Given the description of an element on the screen output the (x, y) to click on. 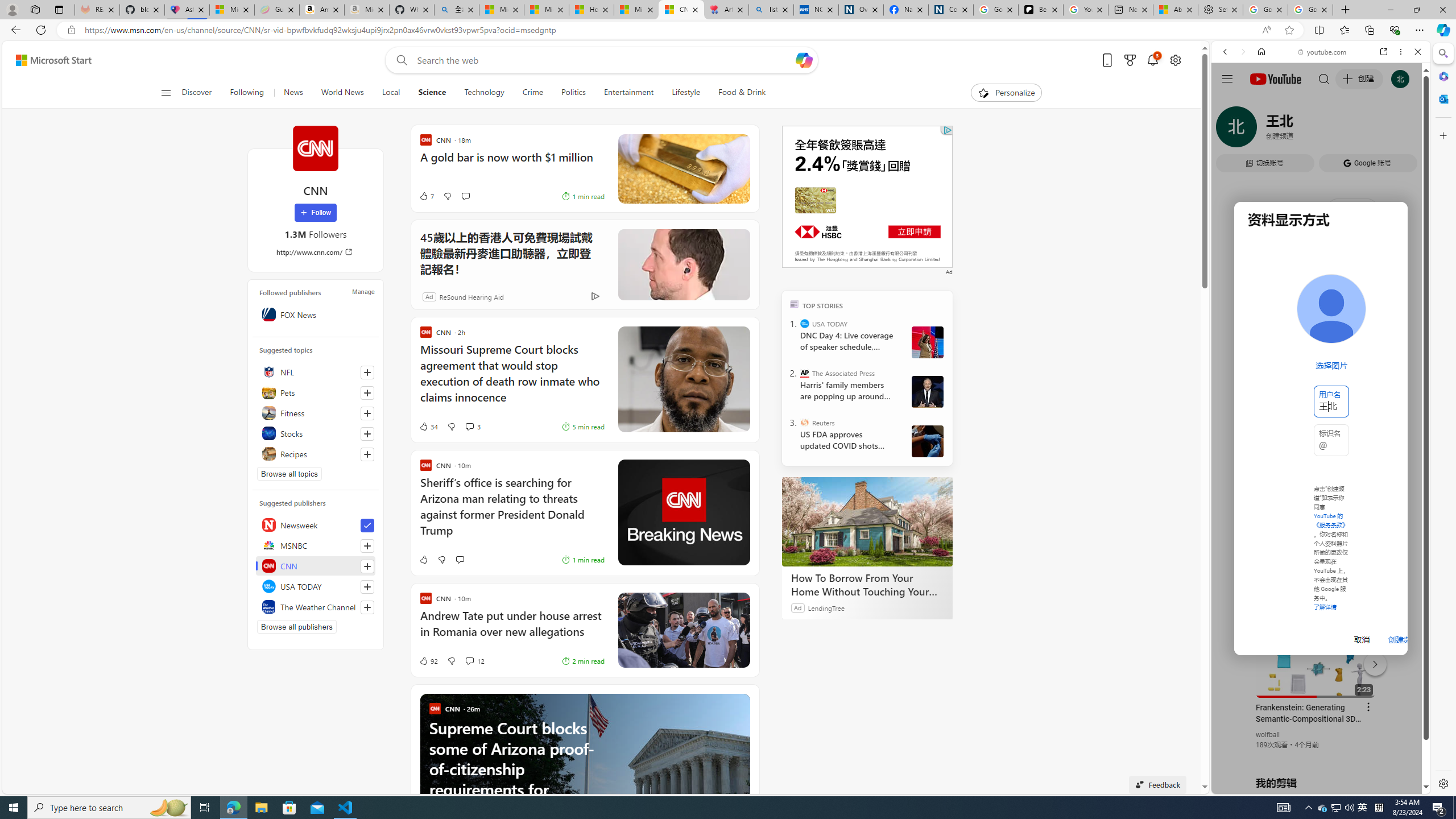
View comments 12 Comment (469, 660)
list of asthma inhalers uk - Search (770, 9)
Search Filter, WEB (1230, 129)
FOX News (315, 314)
Pets (315, 392)
Arthritis: Ask Health Professionals (726, 9)
